Given the description of an element on the screen output the (x, y) to click on. 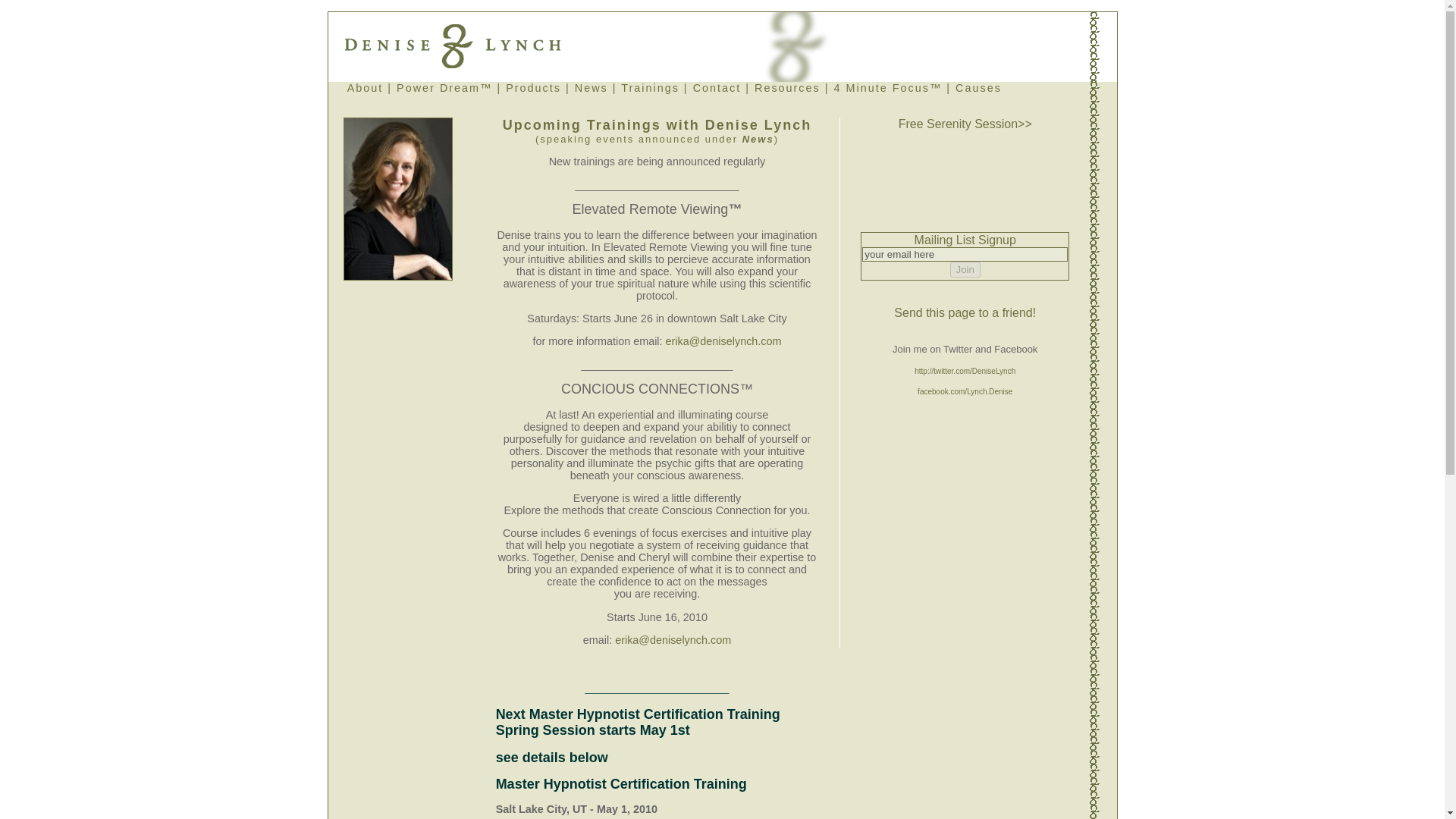
Trainings (650, 87)
Contact (717, 87)
News (758, 138)
Resources (787, 87)
Join (964, 269)
your email here (964, 254)
Coming Soon! (888, 87)
Join (964, 269)
Causes (978, 87)
About (365, 87)
